Given the description of an element on the screen output the (x, y) to click on. 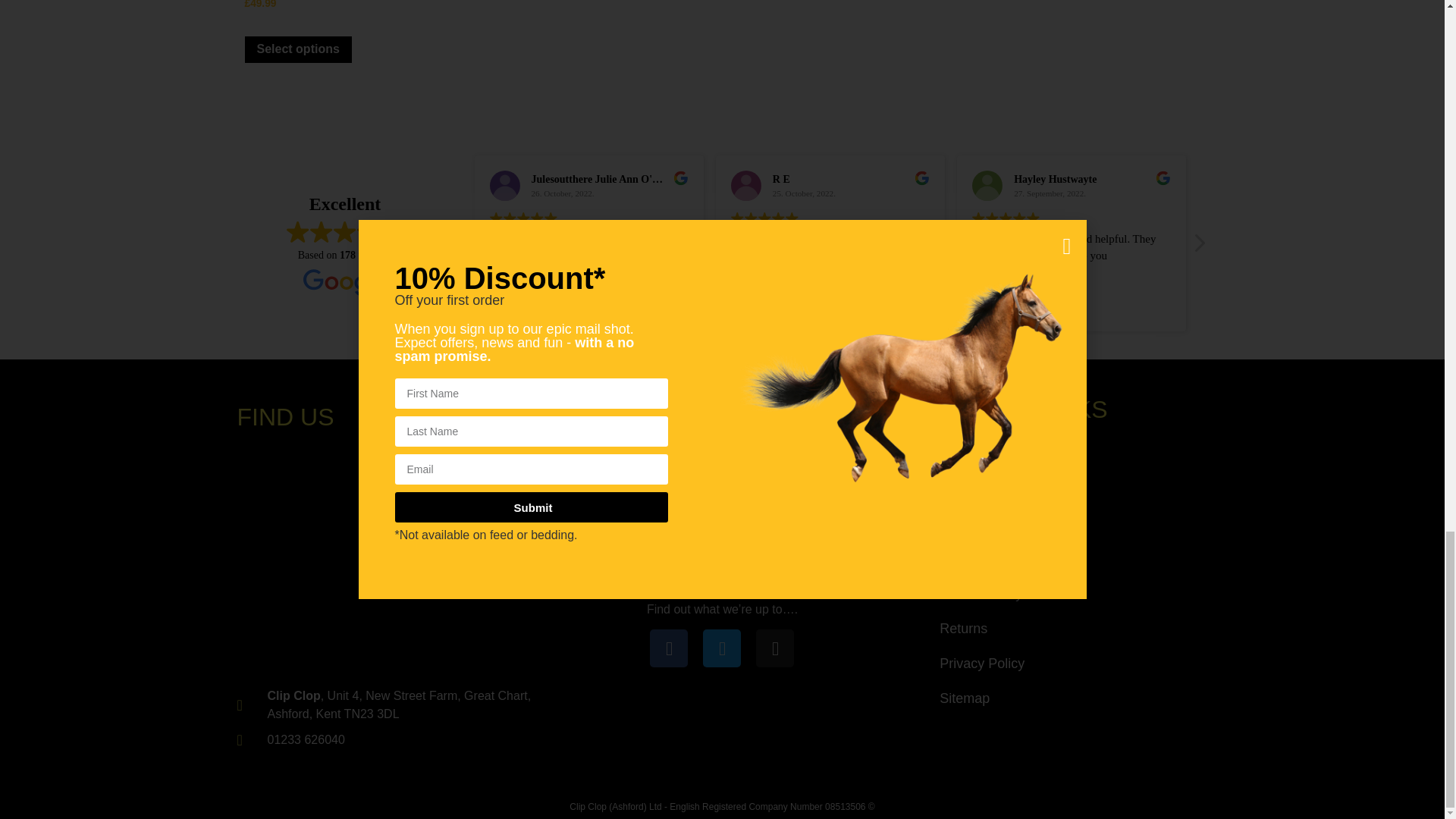
Clip Clop, Unit 4, New Street Farm, Ashford (392, 557)
